Given the description of an element on the screen output the (x, y) to click on. 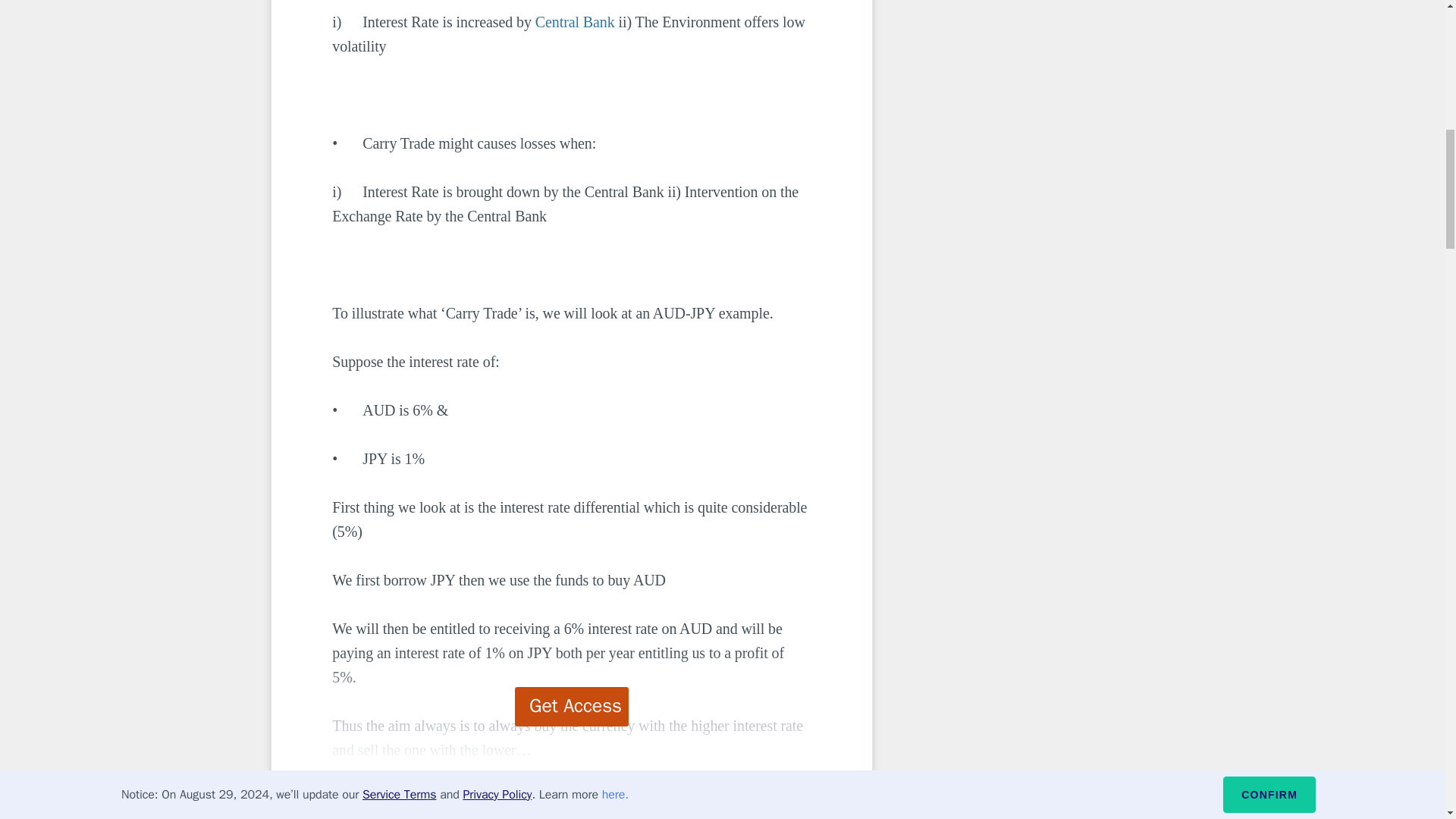
Get Access (571, 706)
Central Bank (574, 21)
